Given the description of an element on the screen output the (x, y) to click on. 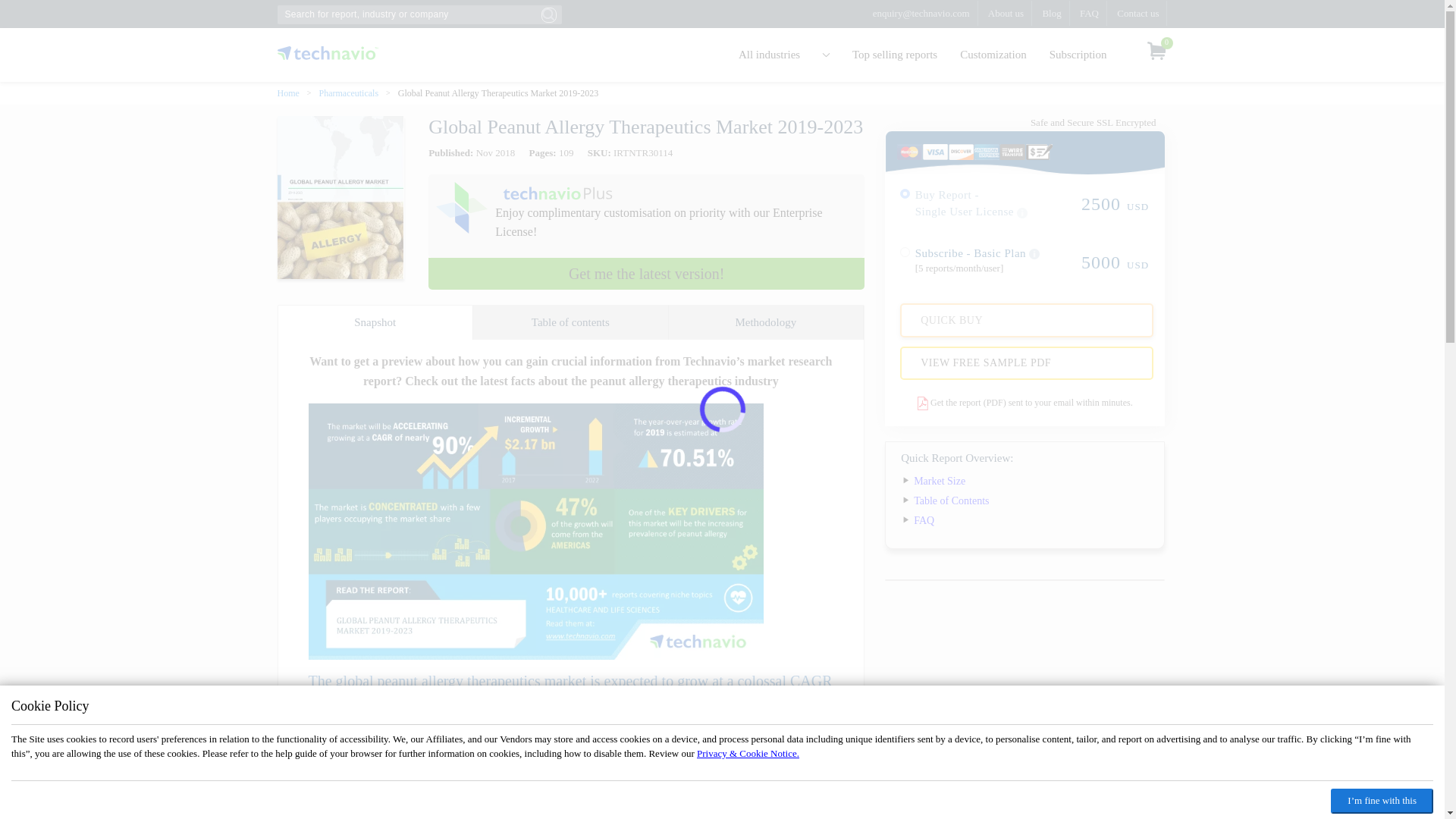
Contact us (1138, 12)
Top selling reports (894, 54)
About us (1005, 12)
on (904, 252)
FAQ (1088, 12)
All industries (783, 54)
Blog (1050, 12)
280496 (904, 194)
Subscription (1077, 54)
Customization (993, 54)
